Given the description of an element on the screen output the (x, y) to click on. 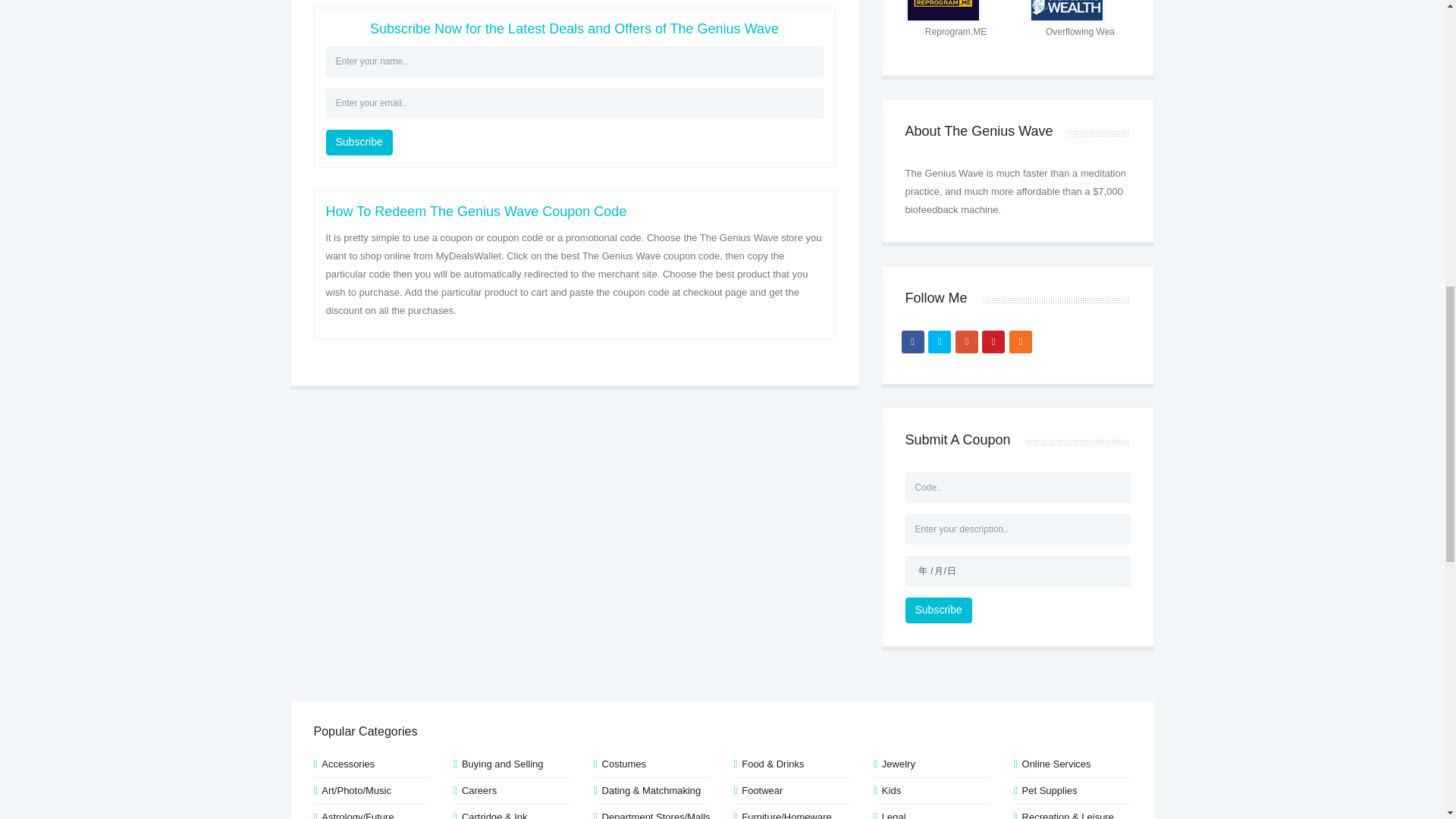
Subscribe (359, 142)
